Given the description of an element on the screen output the (x, y) to click on. 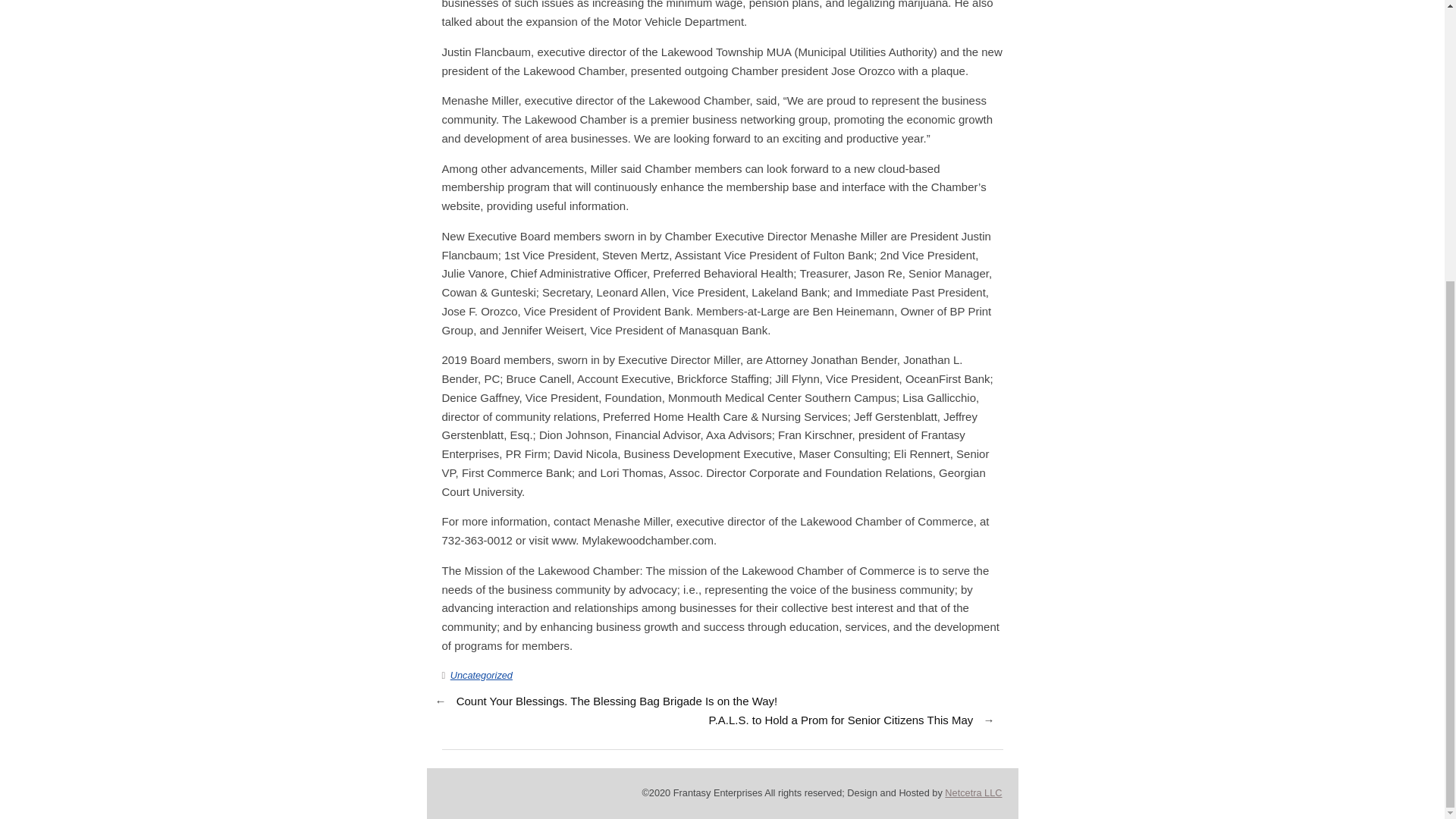
P.A.L.S. to Hold a Prom for Senior Citizens This May (840, 720)
Uncategorized (480, 674)
Netcetra LLC (972, 792)
